Given the description of an element on the screen output the (x, y) to click on. 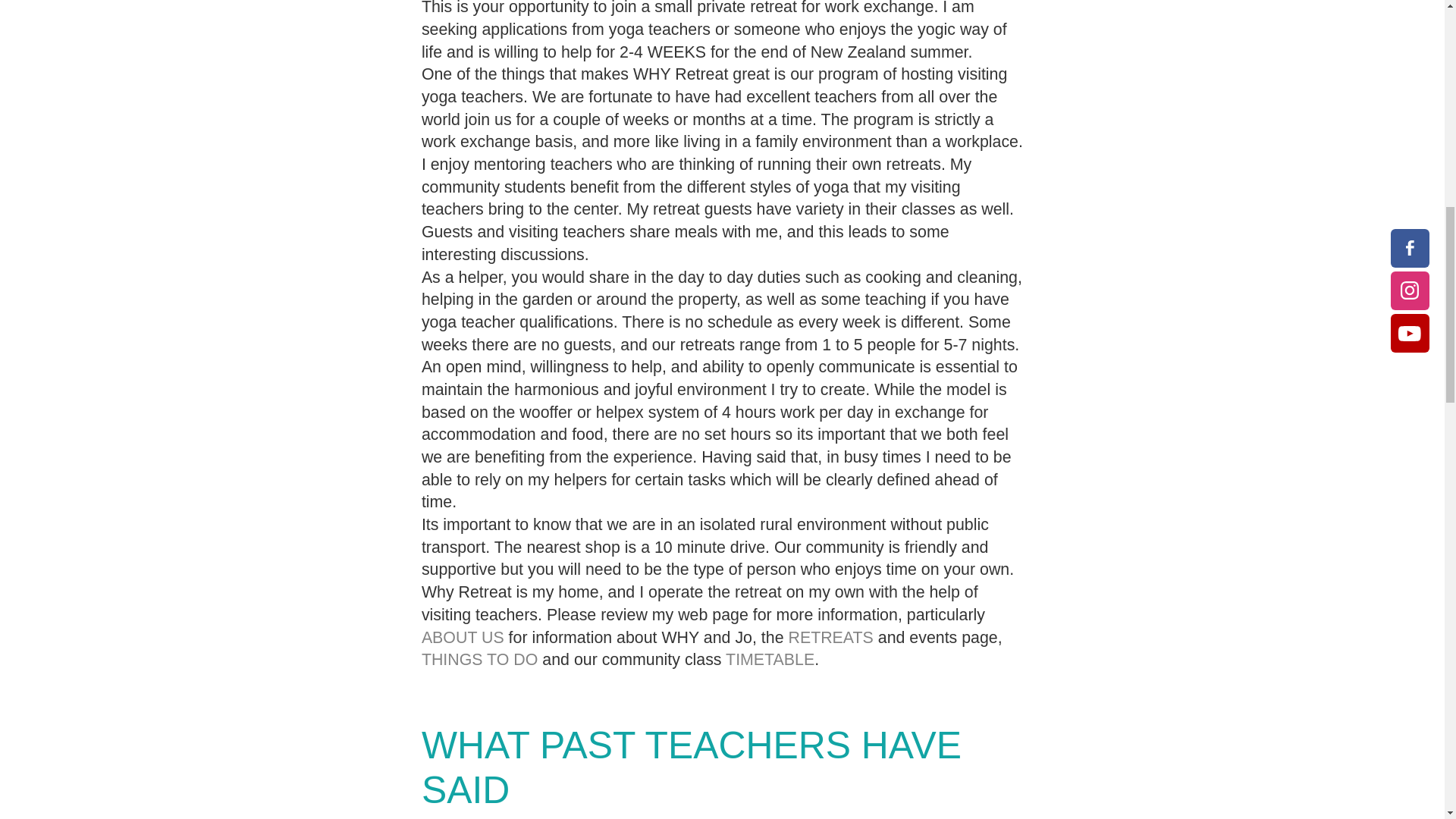
ABOUT US (462, 637)
TIMETABLE (769, 659)
THINGS TO DO (480, 659)
RETREATS (832, 637)
